Given the description of an element on the screen output the (x, y) to click on. 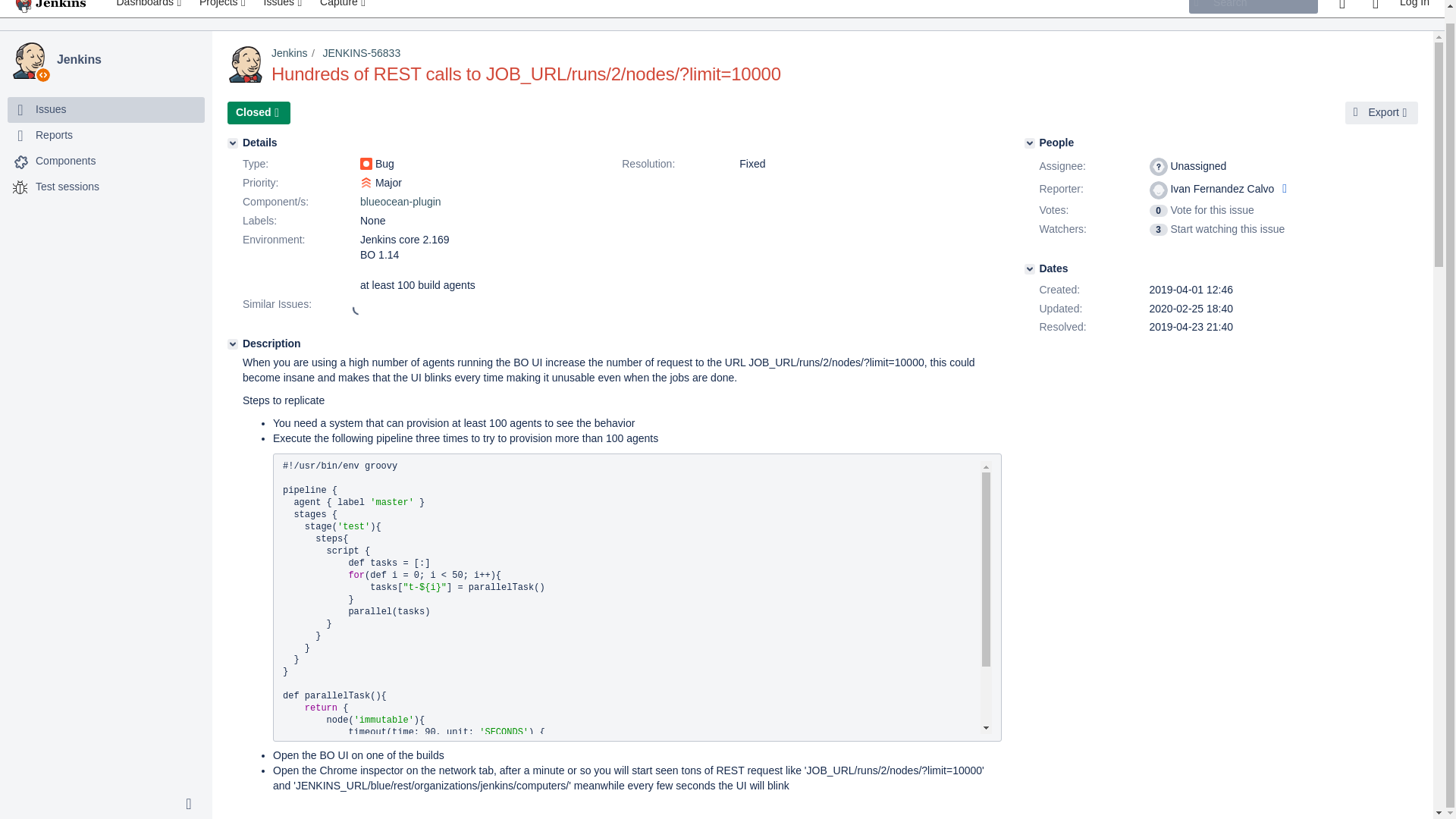
Capture (344, 8)
Issues (49, 109)
Components (65, 160)
Help (1374, 8)
Jenkins (127, 60)
View recent projects and browse a list of projects (224, 8)
Dashboards (150, 8)
Search for issues and view recent issues (284, 8)
Export this issue in another format (1381, 112)
Reports (106, 135)
